Given the description of an element on the screen output the (x, y) to click on. 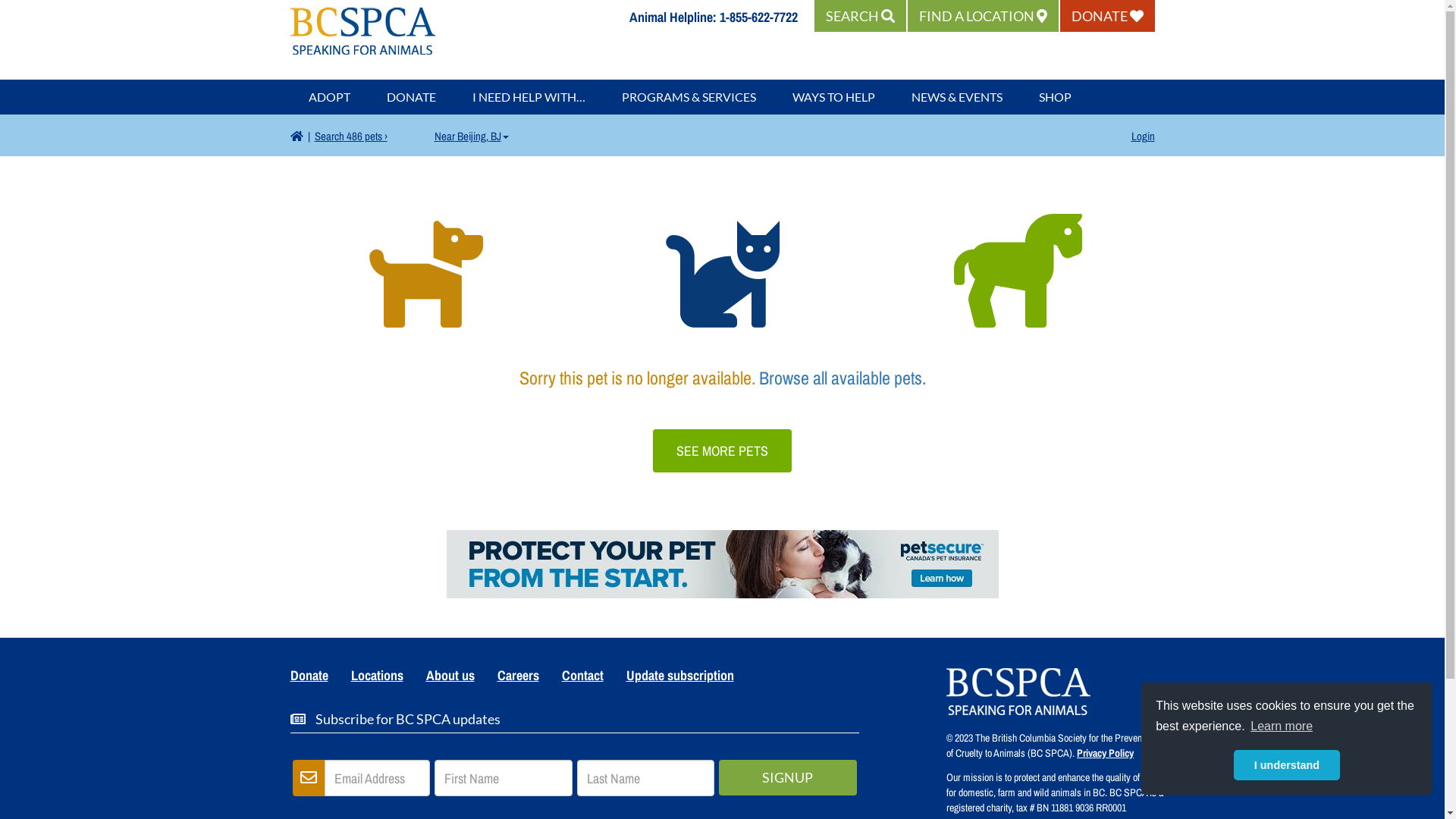
ADOPT Element type: text (328, 96)
DONATE Element type: text (1107, 15)
SEE MORE PETS Element type: text (721, 451)
Locations Element type: text (376, 677)
Privacy Policy Element type: text (1104, 752)
Learn more Element type: text (1281, 726)
I understand Element type: text (1286, 764)
NEWS & EVENTS Element type: text (956, 96)
Near Beijing, BJ Element type: text (470, 136)
FIND A LOCATION Element type: text (981, 15)
About us Element type: text (449, 677)
PROGRAMS & SERVICES Element type: text (688, 96)
Browse all available pets. Element type: text (841, 377)
SEARCH Element type: text (860, 15)
Careers Element type: text (517, 677)
Login Element type: text (1142, 136)
DONATE Element type: text (411, 96)
SIGNUP Element type: text (787, 777)
Update subscription Element type: text (679, 677)
Contact Element type: text (582, 677)
WAYS TO HELP Element type: text (832, 96)
SHOP Element type: text (1054, 96)
Donate Element type: text (309, 677)
